Given the description of an element on the screen output the (x, y) to click on. 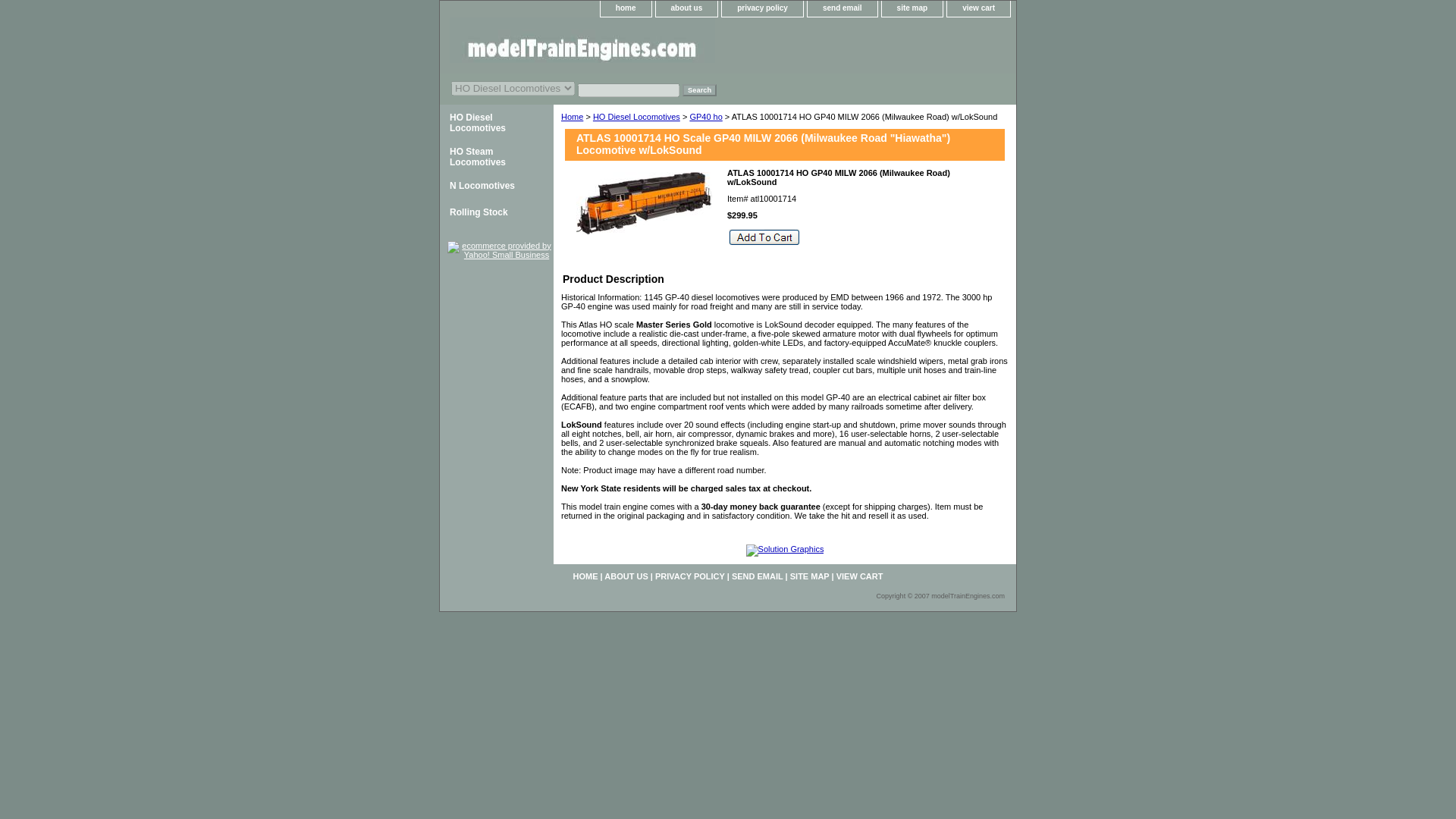
GP40 ho (705, 116)
SEND EMAIL (757, 575)
Home (571, 116)
HO Diesel Locomotives (496, 121)
HO Steam Locomotives (496, 155)
HO Diesel Locomotives (496, 121)
N Locomotives (496, 185)
VIEW CART (859, 575)
SITE MAP (809, 575)
Rolling Stock (496, 212)
modelTrainEngines.com (628, 45)
ABOUT US (625, 575)
privacy policy (762, 8)
home (624, 8)
about us (686, 8)
